Given the description of an element on the screen output the (x, y) to click on. 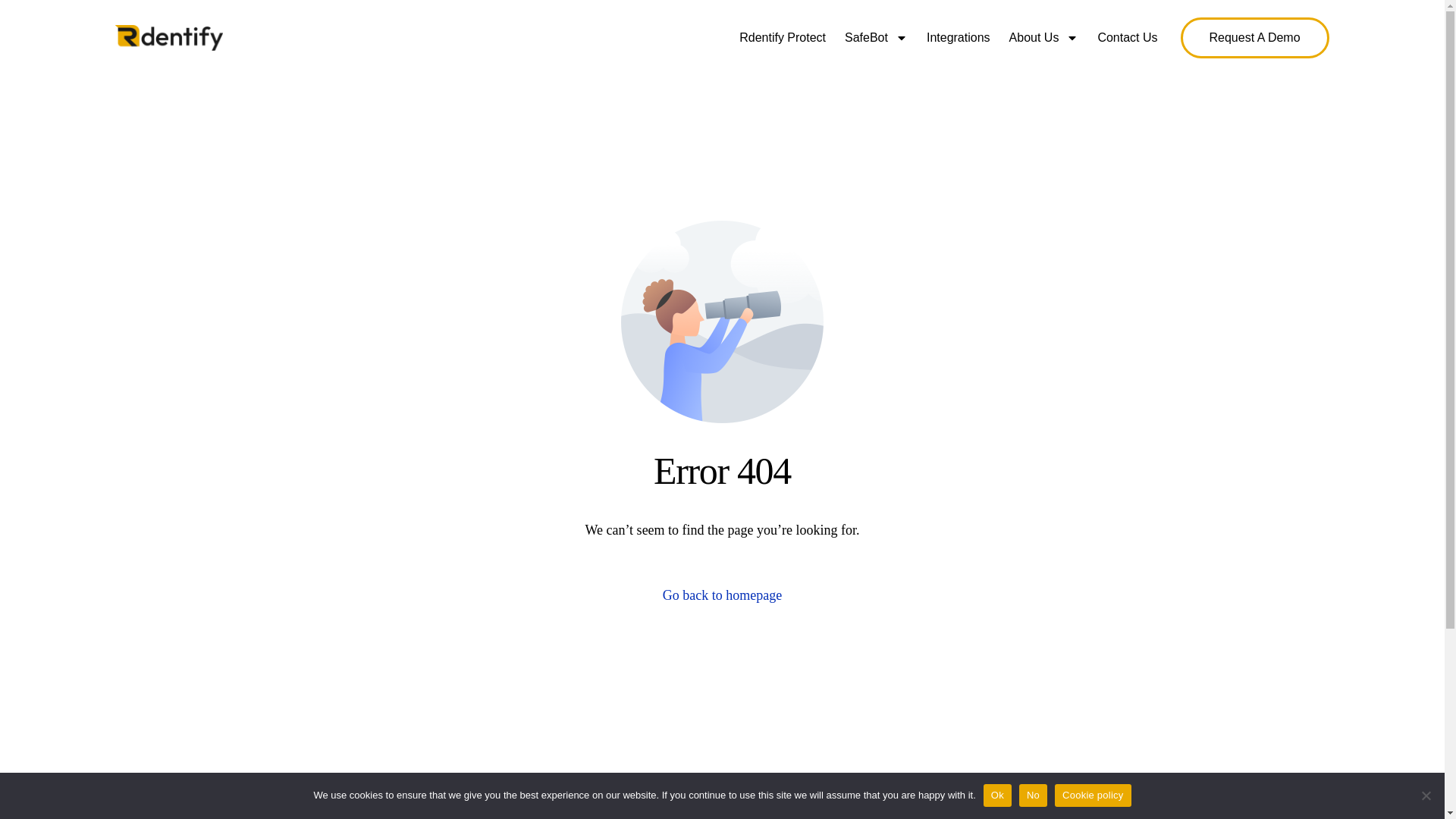
SafeBot (875, 37)
No (1425, 795)
Contact Us (1127, 37)
Integrations (958, 37)
About Us (1043, 37)
Rdentify Protect (782, 37)
